Given the description of an element on the screen output the (x, y) to click on. 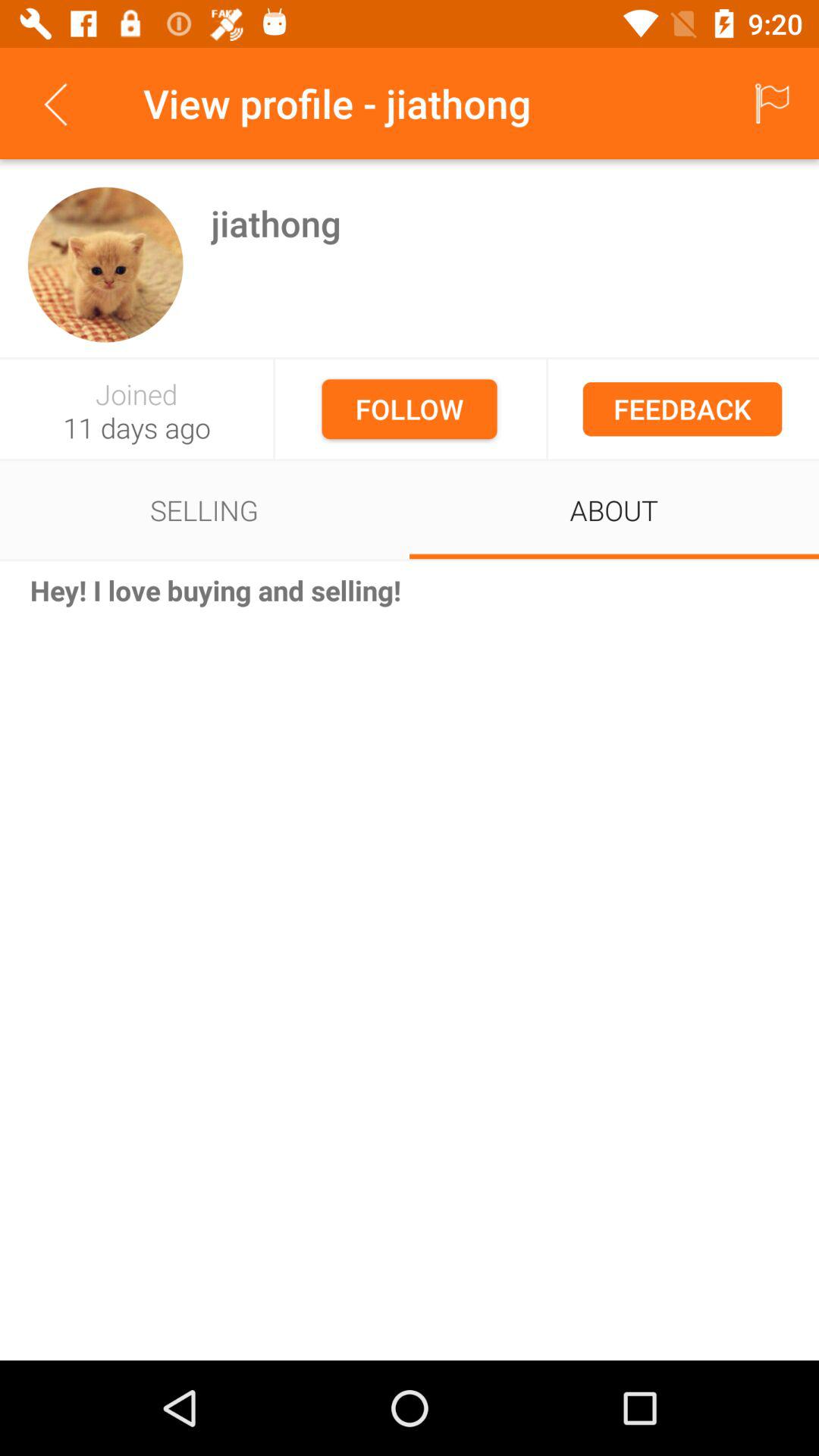
image to be descriptive on left (105, 264)
